Given the description of an element on the screen output the (x, y) to click on. 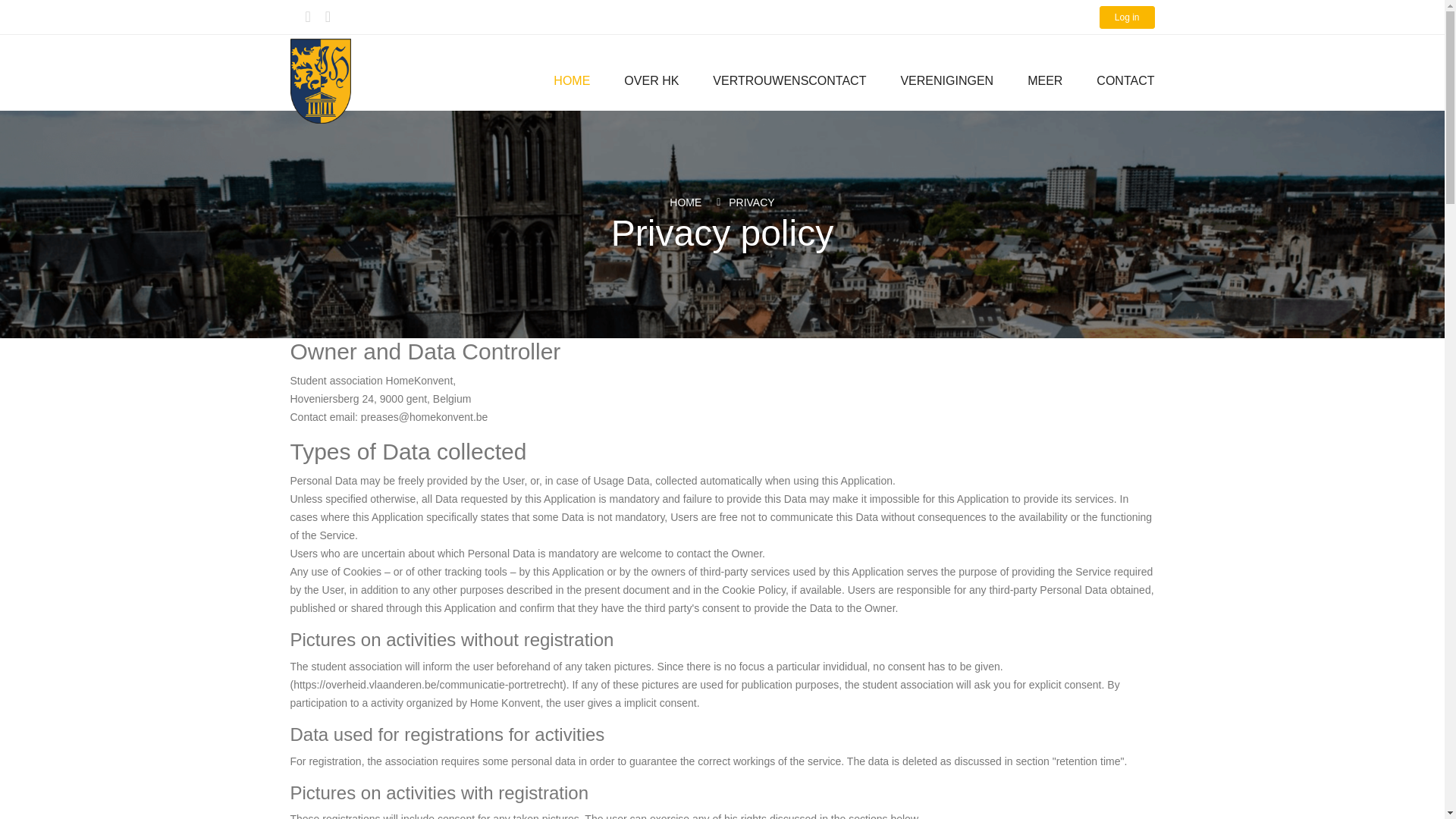
VERTROUWENSCONTACT (789, 80)
Log in (1126, 16)
PRIVACY (751, 202)
HOME (685, 202)
VERENIGINGEN (945, 80)
